Given the description of an element on the screen output the (x, y) to click on. 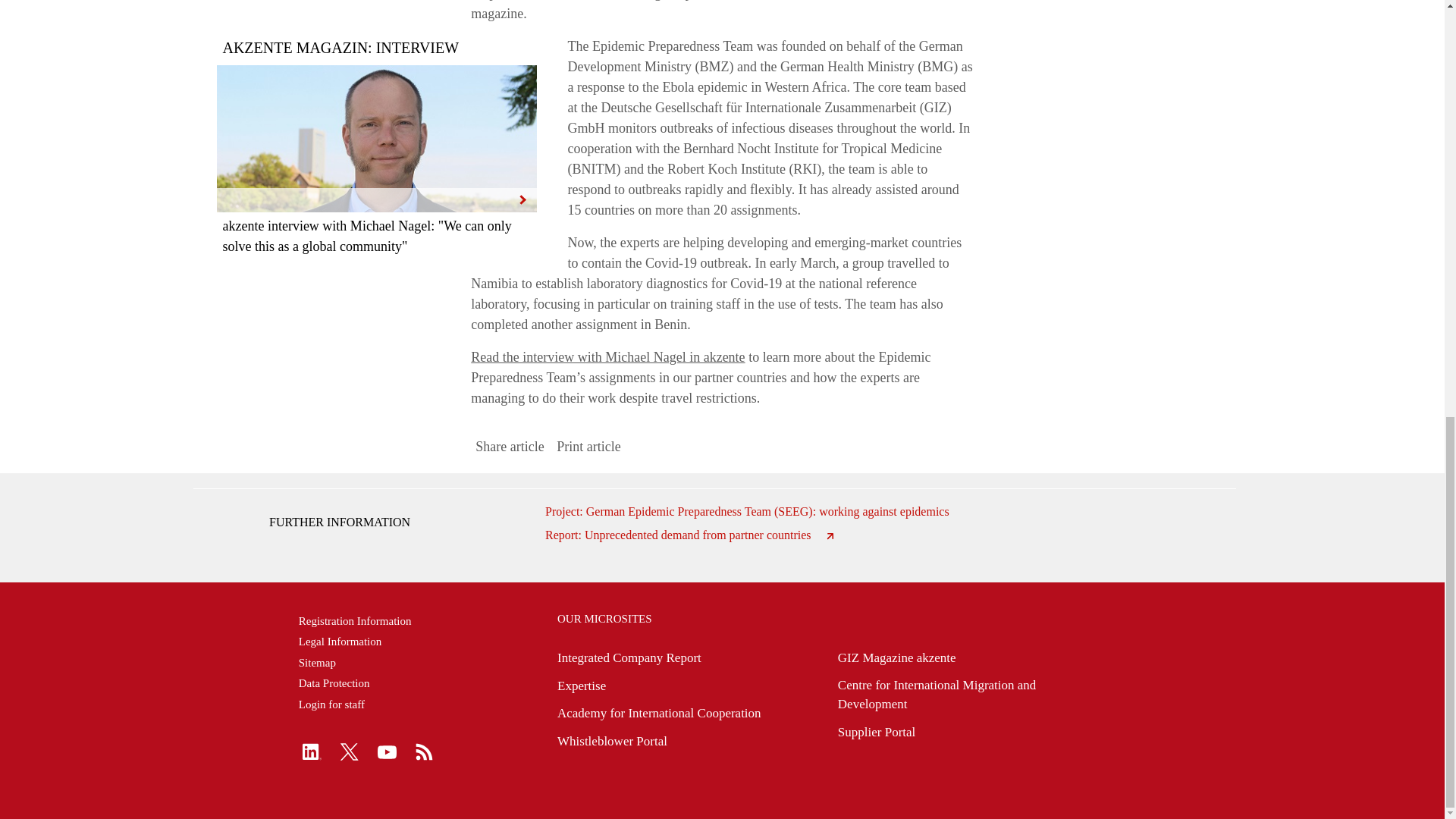
Read the interview with Michael Nagel in akzente (607, 356)
Print article (587, 446)
Share article (509, 446)
